Given the description of an element on the screen output the (x, y) to click on. 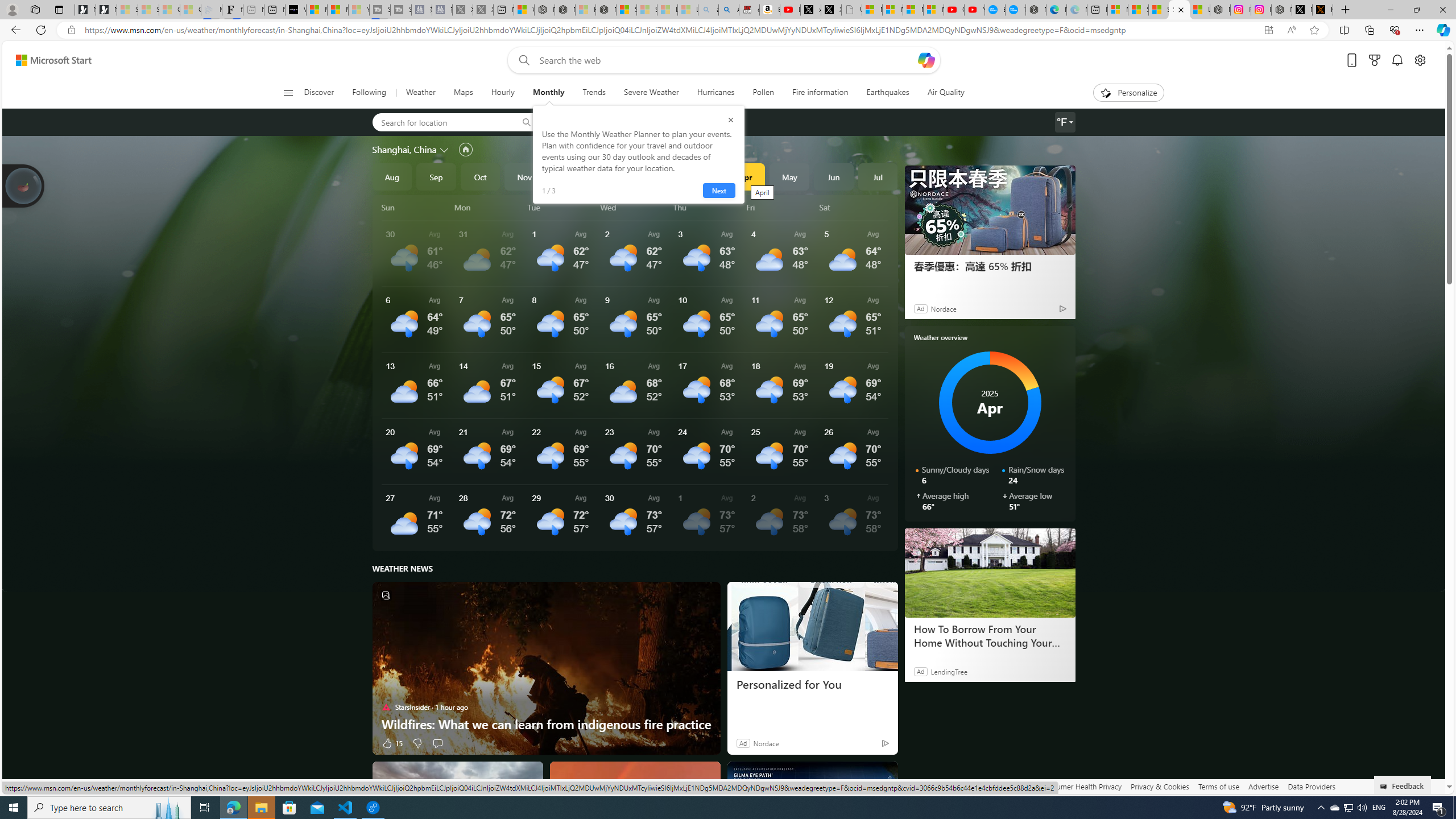
Sep (435, 176)
Feb (657, 176)
Monthly (547, 92)
App available. Install Microsoft Start Weather (1268, 29)
Fire information (820, 92)
Trends (593, 92)
Apr (745, 176)
Oct (480, 176)
Mar (700, 176)
Dislike (417, 742)
